Given the description of an element on the screen output the (x, y) to click on. 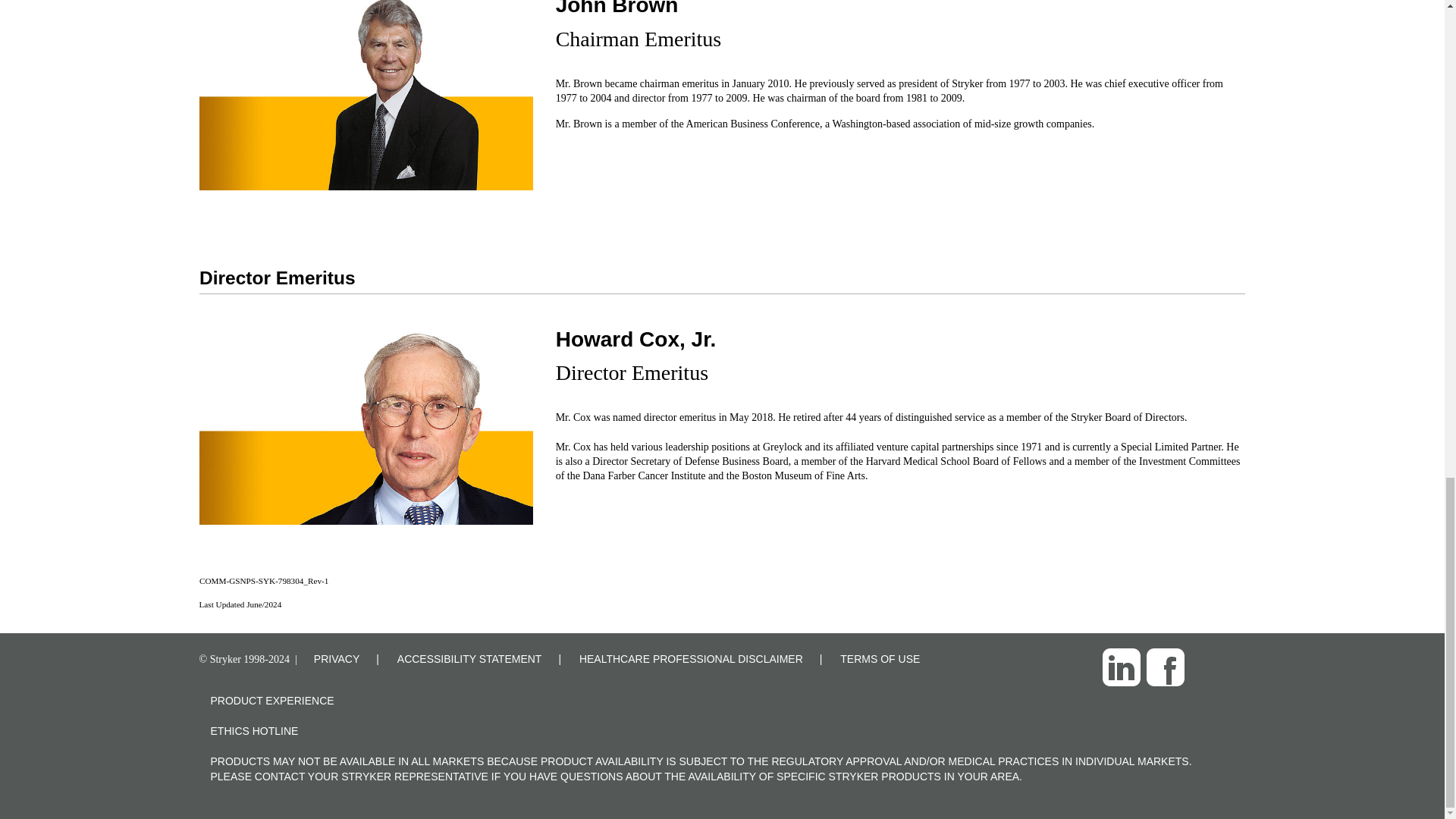
Howard Cox (365, 426)
John Brown (365, 95)
